Given the description of an element on the screen output the (x, y) to click on. 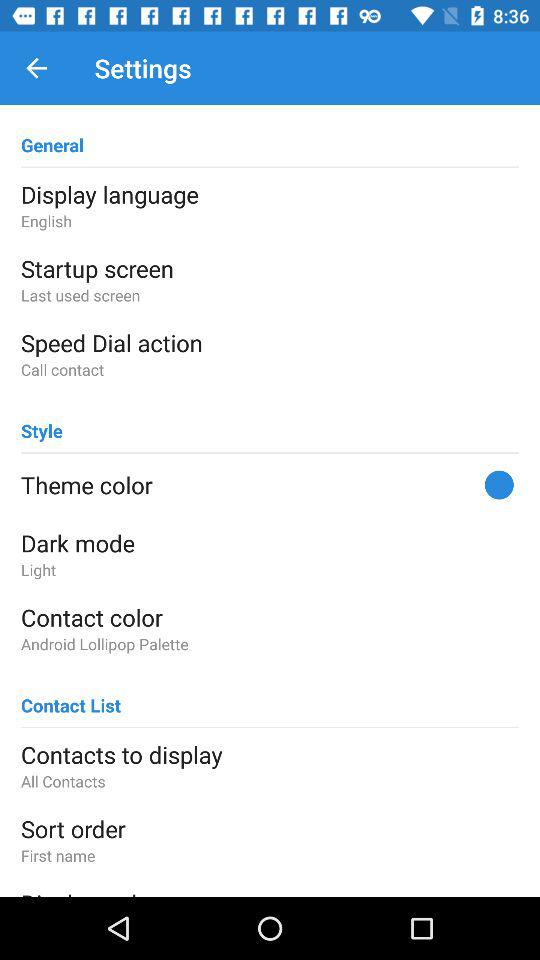
jump until the last used screen (270, 294)
